Given the description of an element on the screen output the (x, y) to click on. 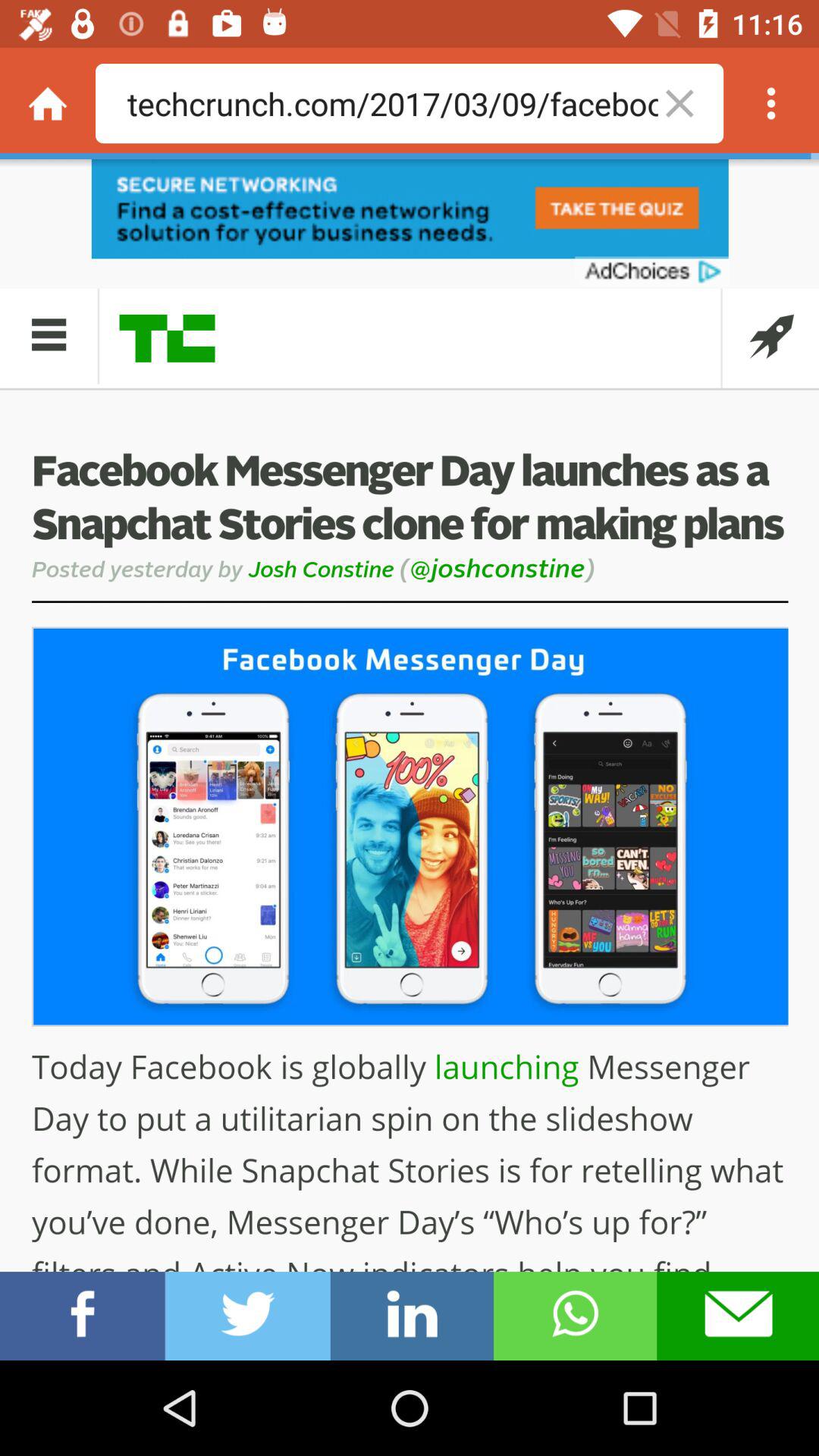
menu page (771, 103)
